Given the description of an element on the screen output the (x, y) to click on. 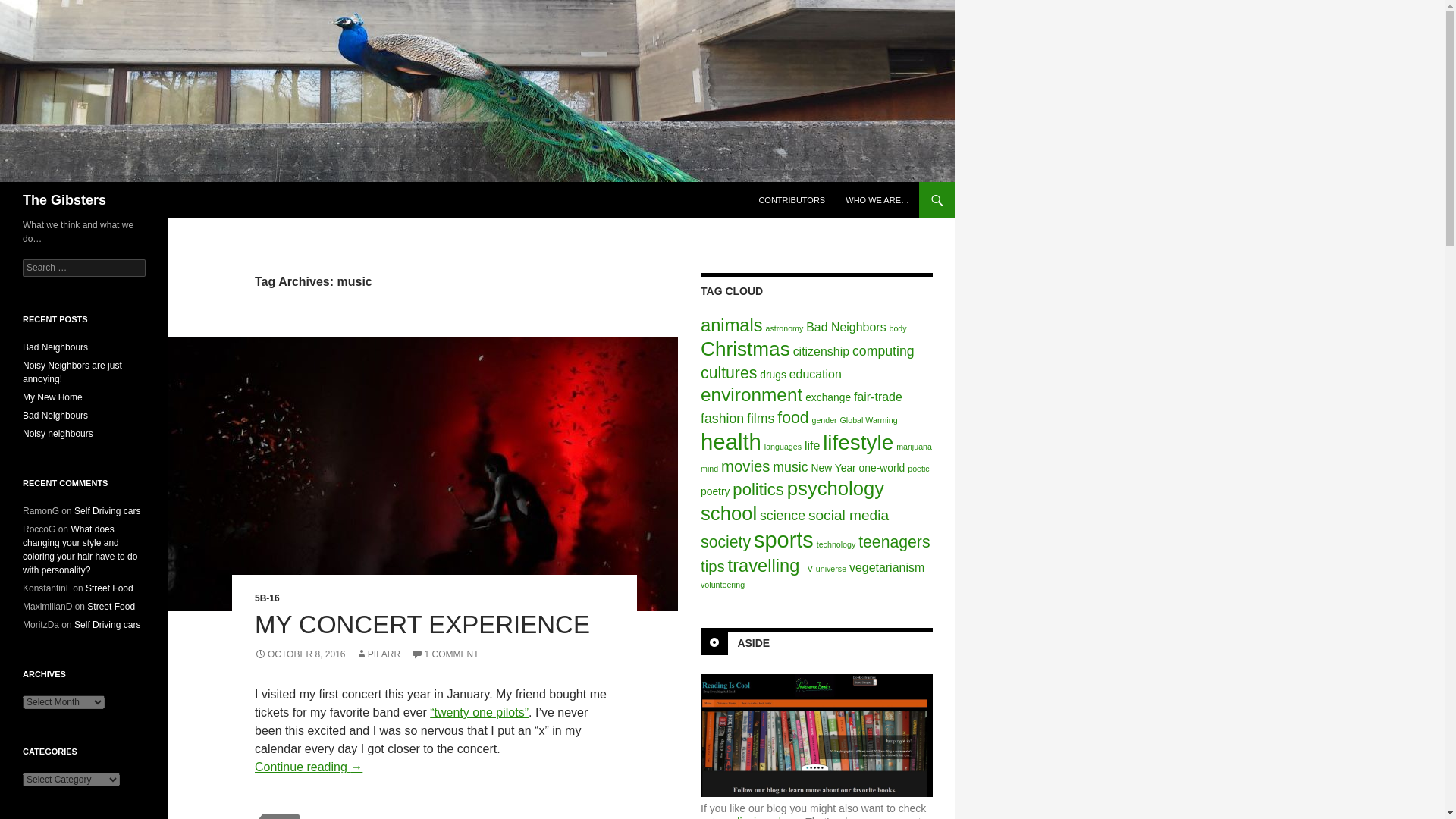
1 COMMENT (444, 654)
PILARR (377, 654)
CONTRIBUTORS (791, 199)
MY CONCERT EXPERIENCE (421, 624)
MUSIC (280, 816)
5B-16 (266, 597)
OCTOBER 8, 2016 (300, 654)
The Gibsters (64, 199)
